Given the description of an element on the screen output the (x, y) to click on. 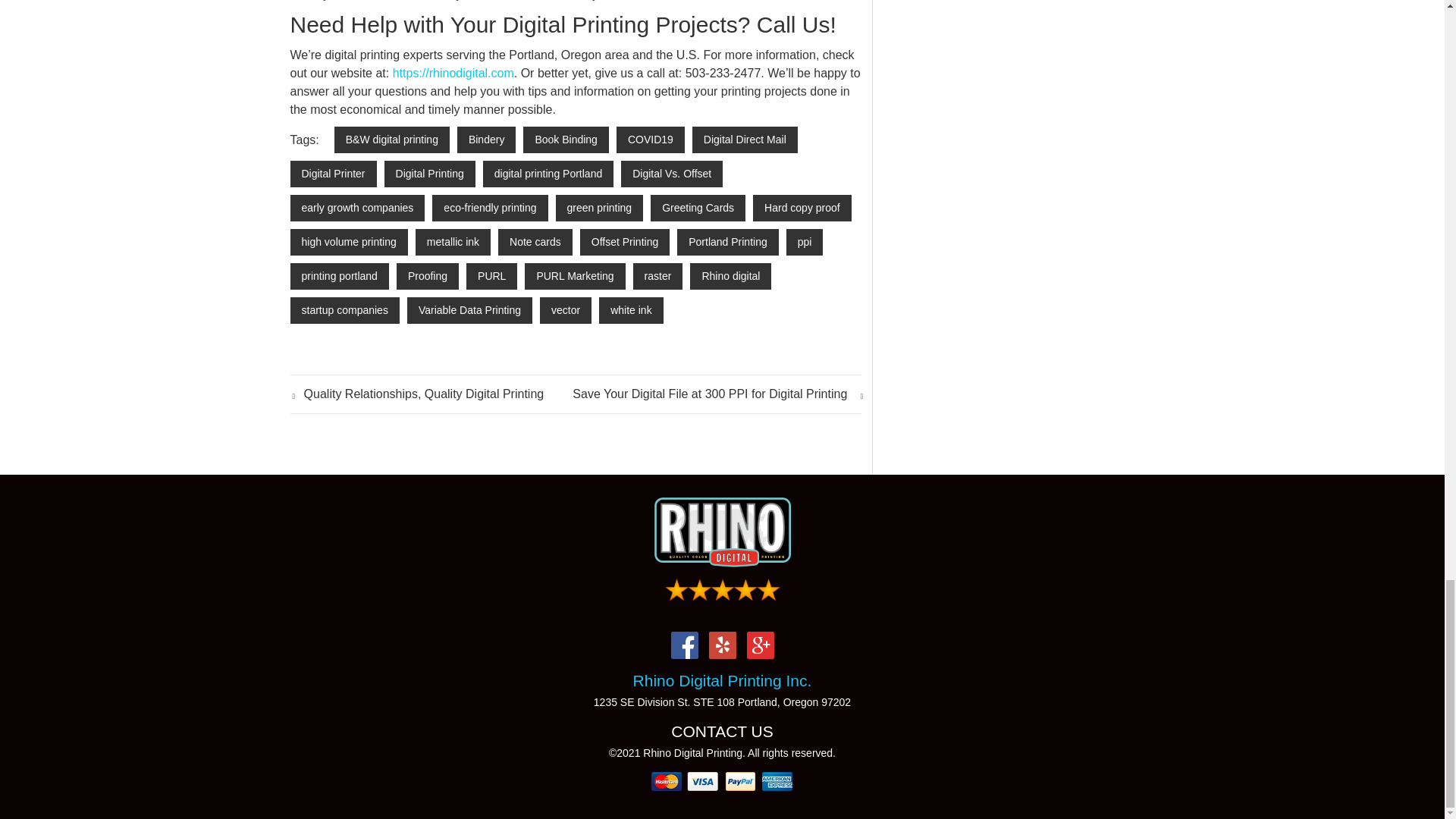
Bindery (486, 139)
Book Binding (565, 139)
Digital Printer (332, 173)
Digital Printer (332, 173)
Hard copy proof (801, 207)
early growth companies (357, 207)
digital printing Portland (547, 173)
digital printing Portland (547, 173)
Digital Printing (430, 173)
eco-friendly printing (489, 207)
Digital Vs. Offset (671, 173)
early growth companies (357, 207)
Digital Printing (430, 173)
COVID19 (649, 139)
Digital Vs. Offset (671, 173)
